Given the description of an element on the screen output the (x, y) to click on. 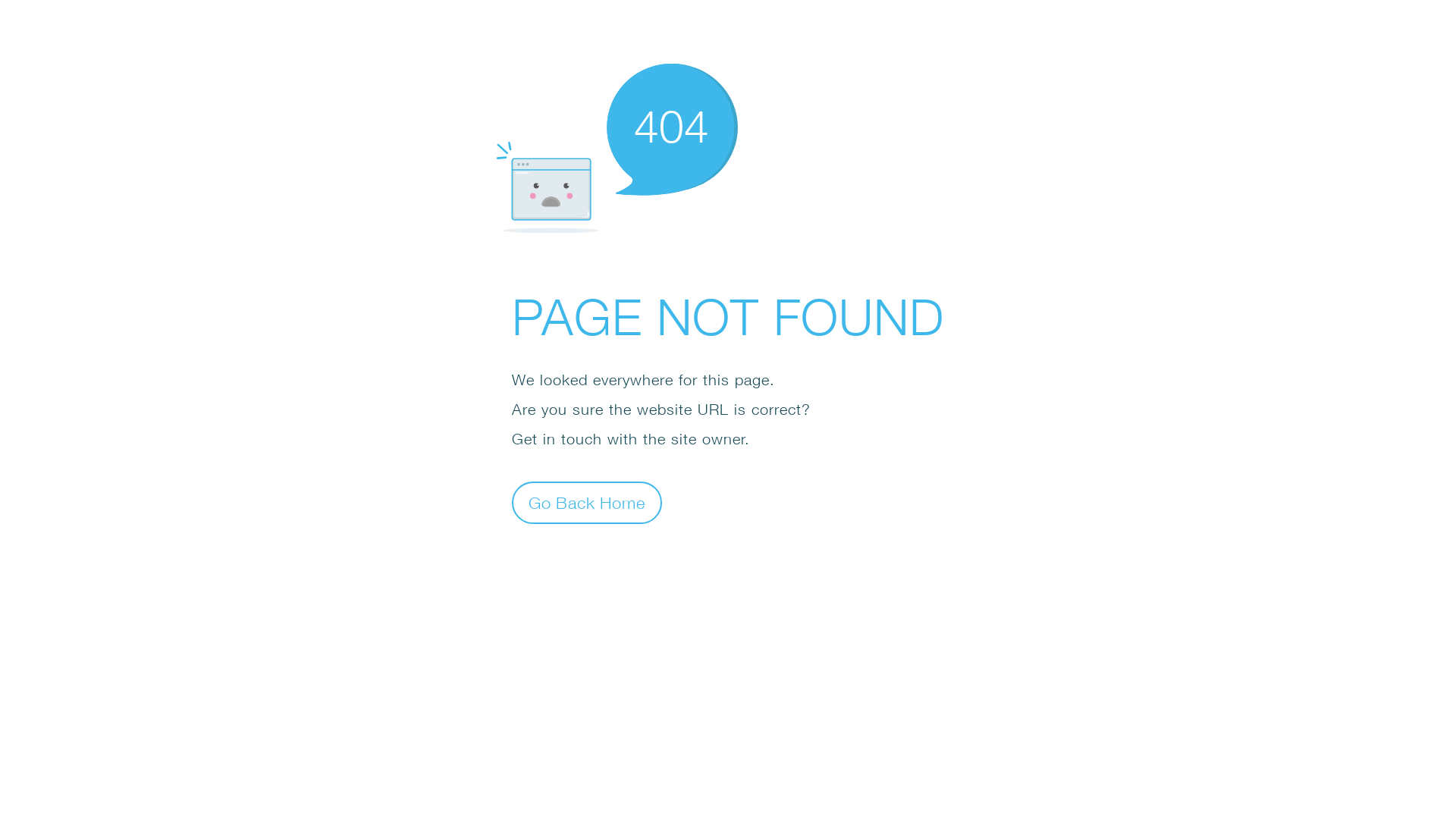
Go Back Home Element type: text (586, 502)
